Given the description of an element on the screen output the (x, y) to click on. 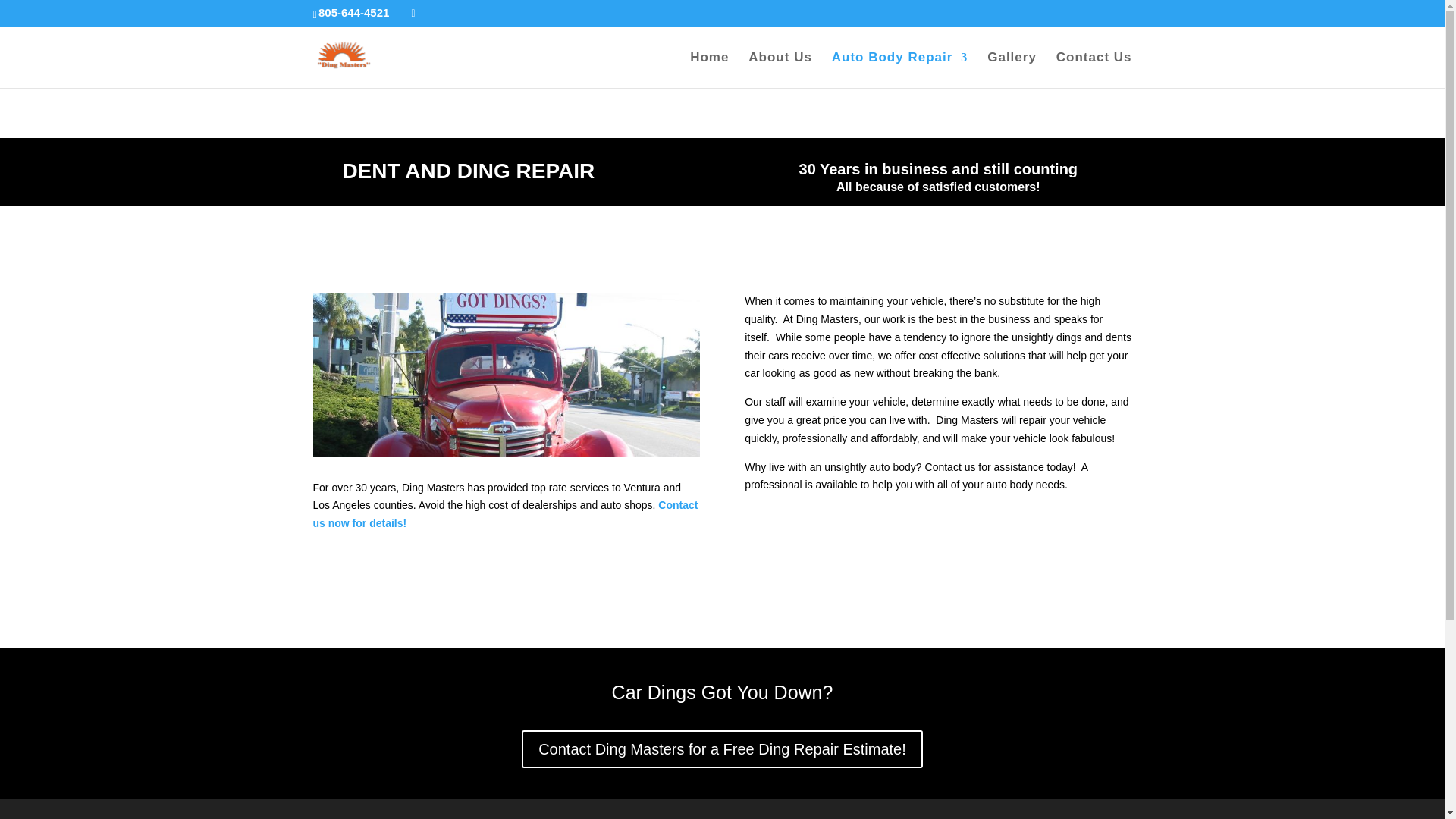
Contact Us (1094, 69)
Auto Body Repair (899, 69)
Home (709, 69)
Contact Ding Masters for a Free Ding Repair Estimate! (722, 749)
Gallery (1011, 69)
About Us (780, 69)
Contact us now for details! (505, 513)
